Given the description of an element on the screen output the (x, y) to click on. 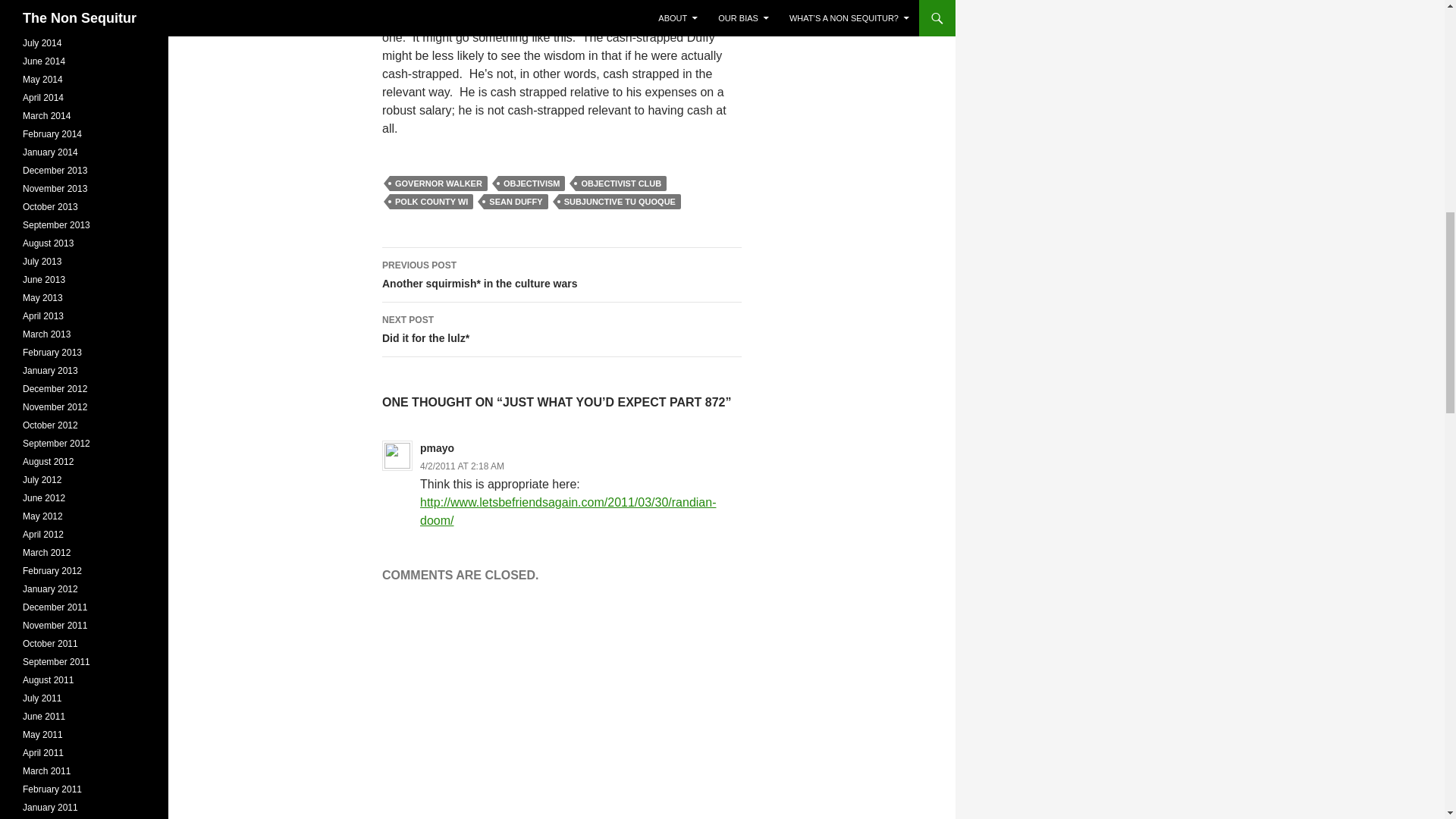
OBJECTIVISM (531, 183)
SUBJUNCTIVE TU QUOQUE (620, 201)
SEAN DUFFY (515, 201)
GOVERNOR WALKER (438, 183)
OBJECTIVIST CLUB (620, 183)
POLK COUNTY WI (431, 201)
